Given the description of an element on the screen output the (x, y) to click on. 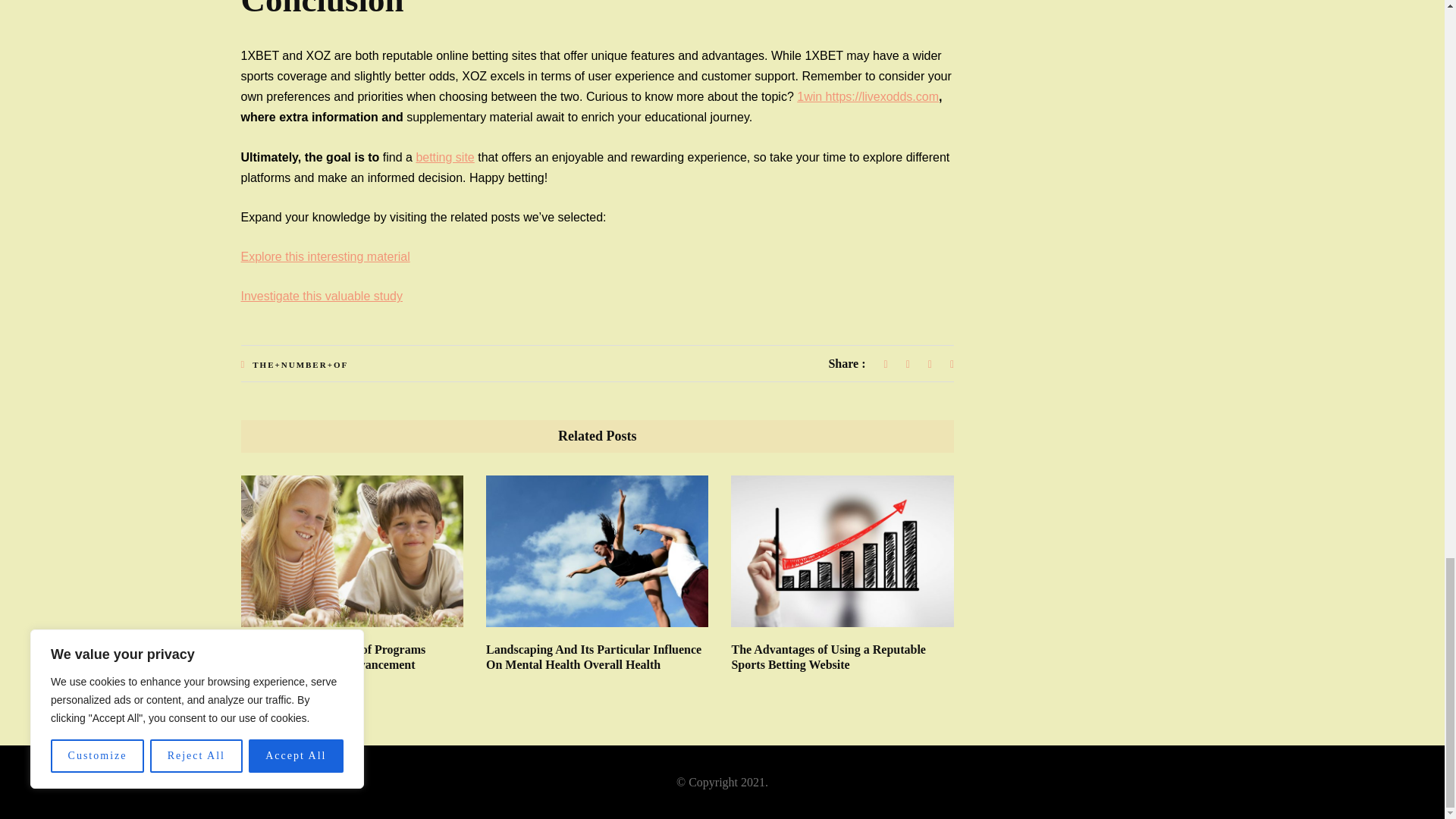
Explore this interesting material (325, 256)
Investigate this valuable study (322, 295)
betting site (444, 156)
